Given the description of an element on the screen output the (x, y) to click on. 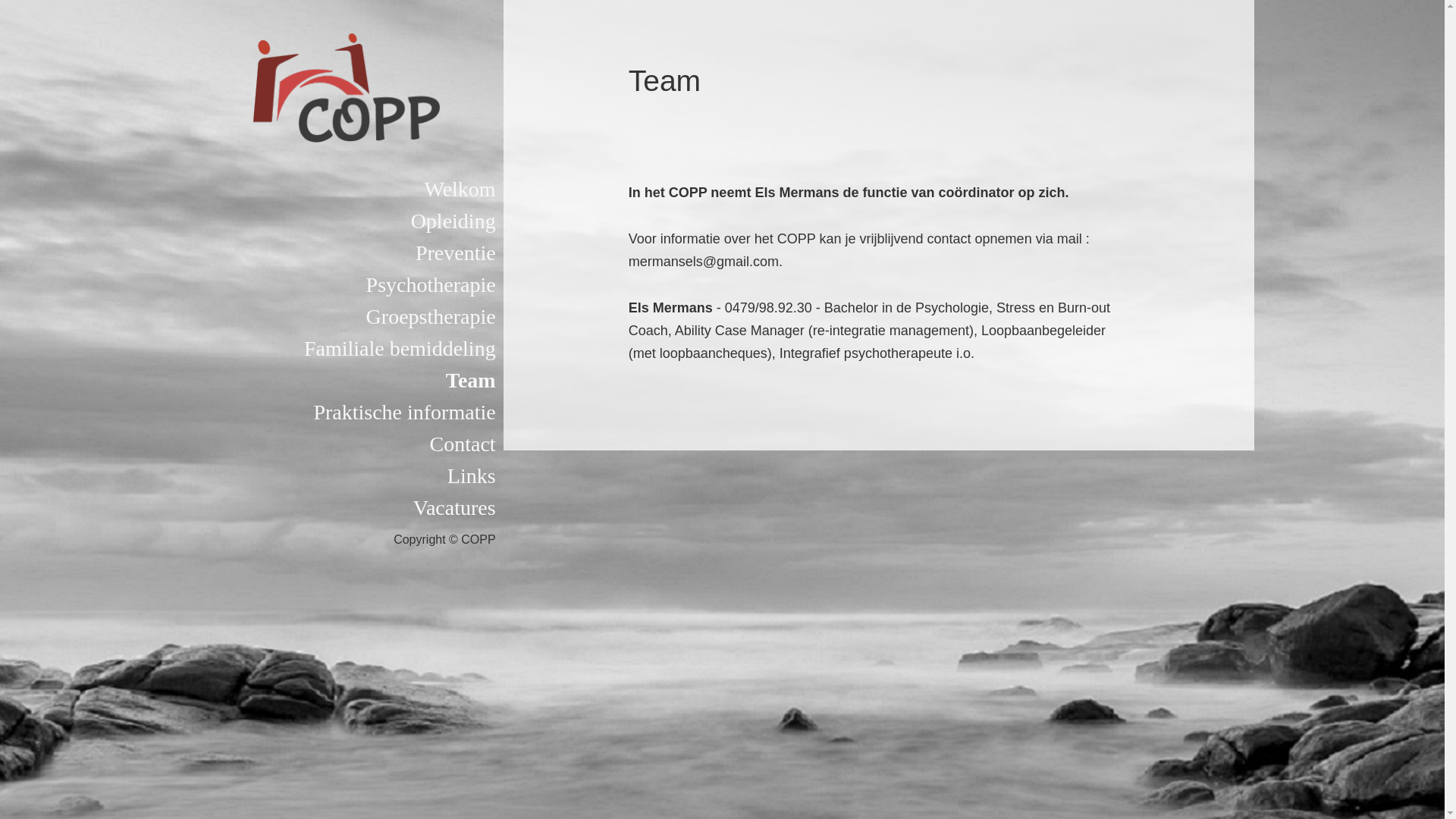
Team Element type: text (332, 380)
Groepstherapie Element type: text (332, 316)
Praktische informatie Element type: text (332, 412)
Familiale bemiddeling Element type: text (332, 348)
Welkom Element type: text (332, 189)
Preventie Element type: text (332, 253)
Links Element type: text (332, 476)
Psychotherapie Element type: text (332, 285)
Contact Element type: text (332, 444)
Opleiding Element type: text (332, 221)
Vacatures Element type: text (332, 508)
